Given the description of an element on the screen output the (x, y) to click on. 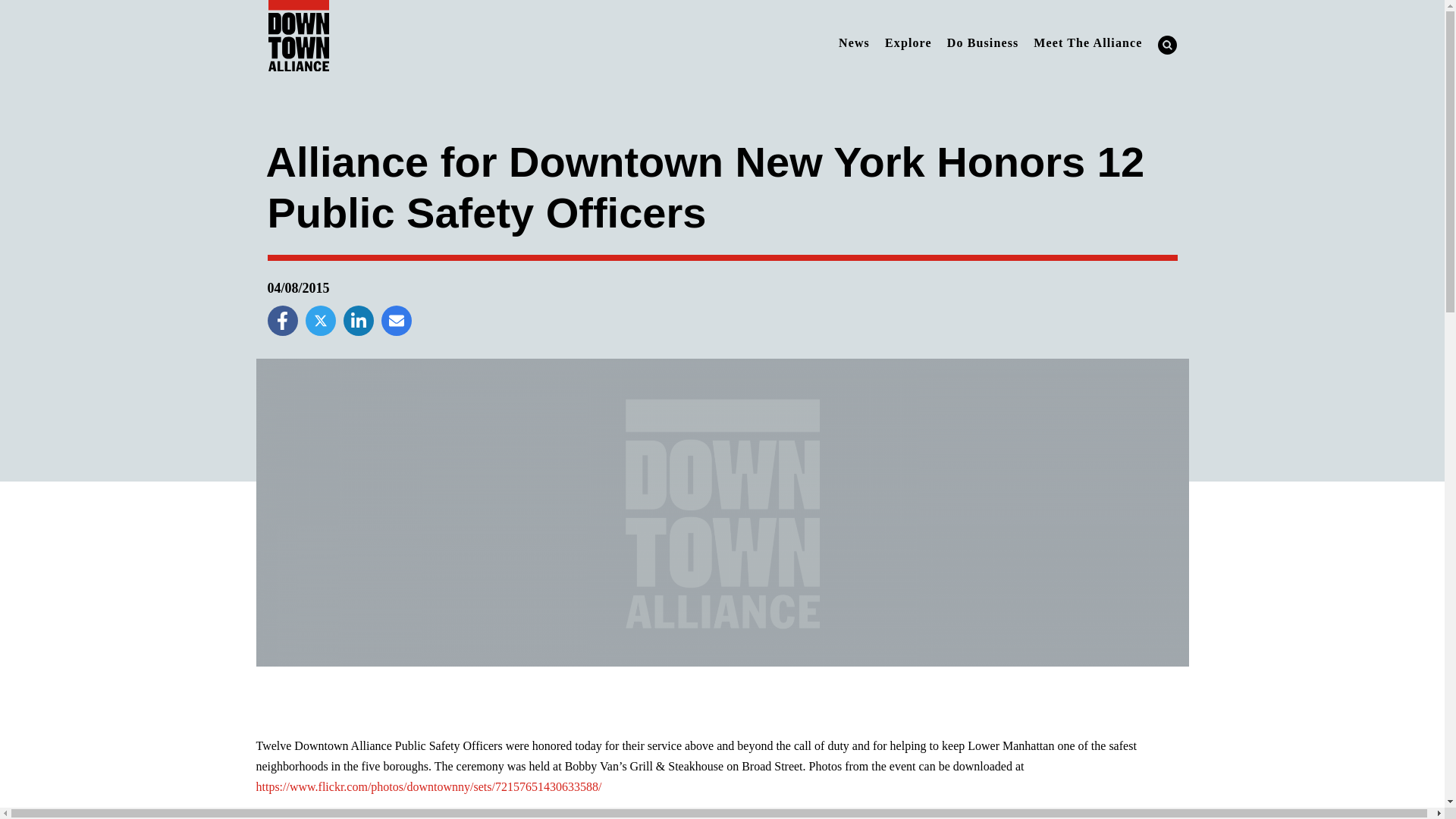
Explore (908, 42)
Meet The Alliance (1087, 42)
News (853, 42)
Do Business (983, 42)
